Given the description of an element on the screen output the (x, y) to click on. 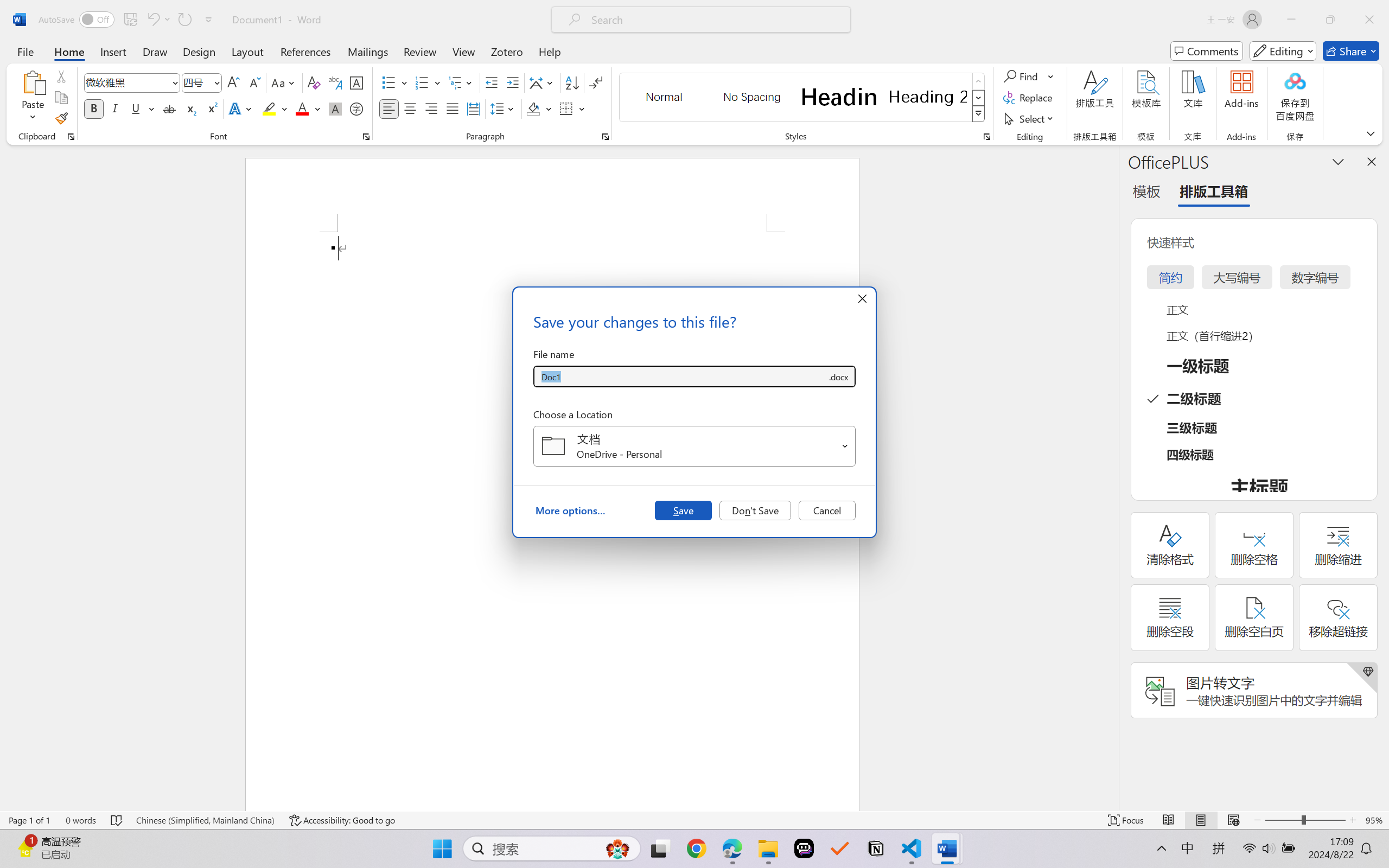
Undo <ApplyStyleToDoc>b__0 (158, 19)
